Given the description of an element on the screen output the (x, y) to click on. 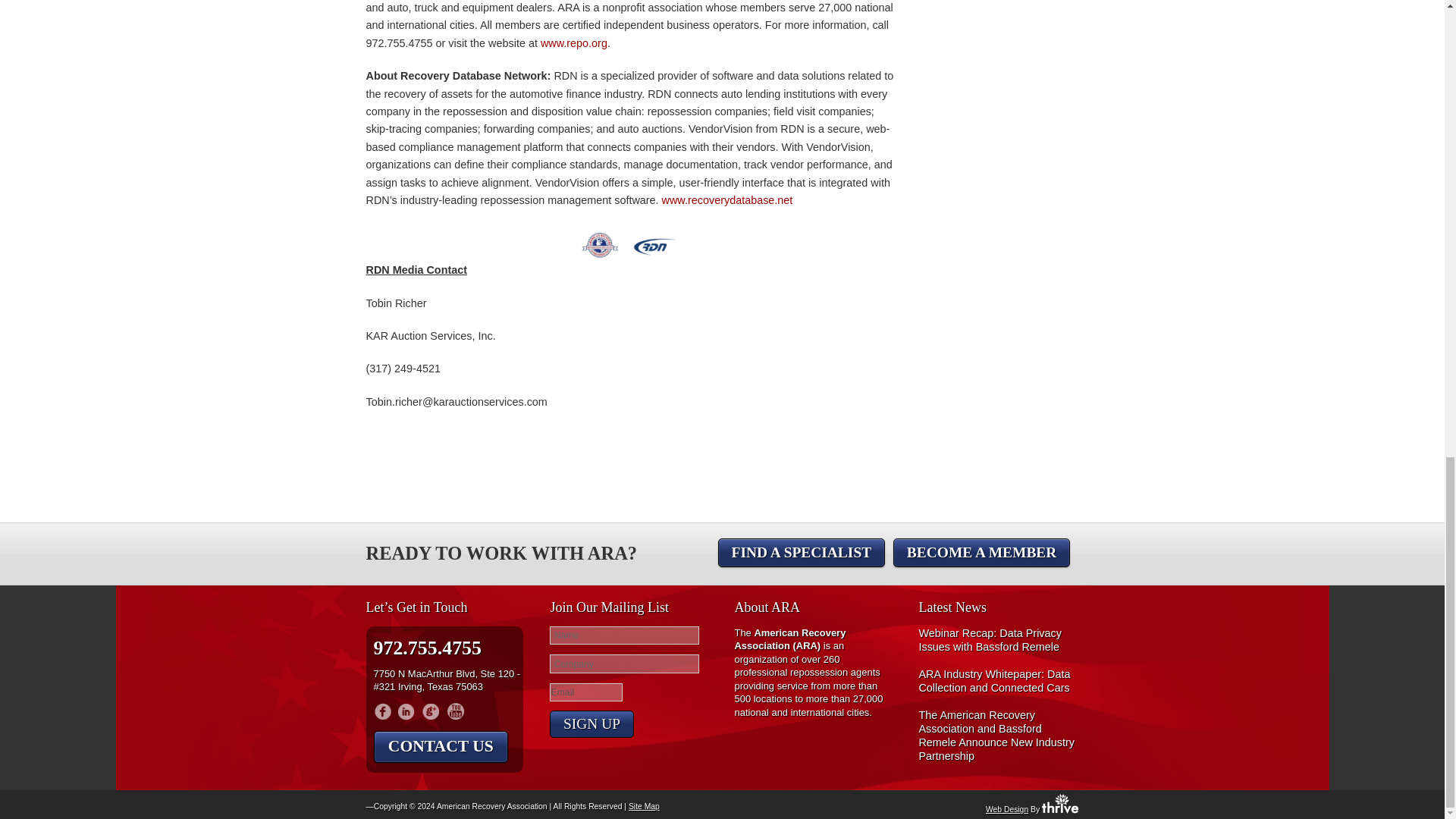
Sign Up (591, 723)
Email (586, 692)
Name (624, 635)
Company (624, 663)
